Given the description of an element on the screen output the (x, y) to click on. 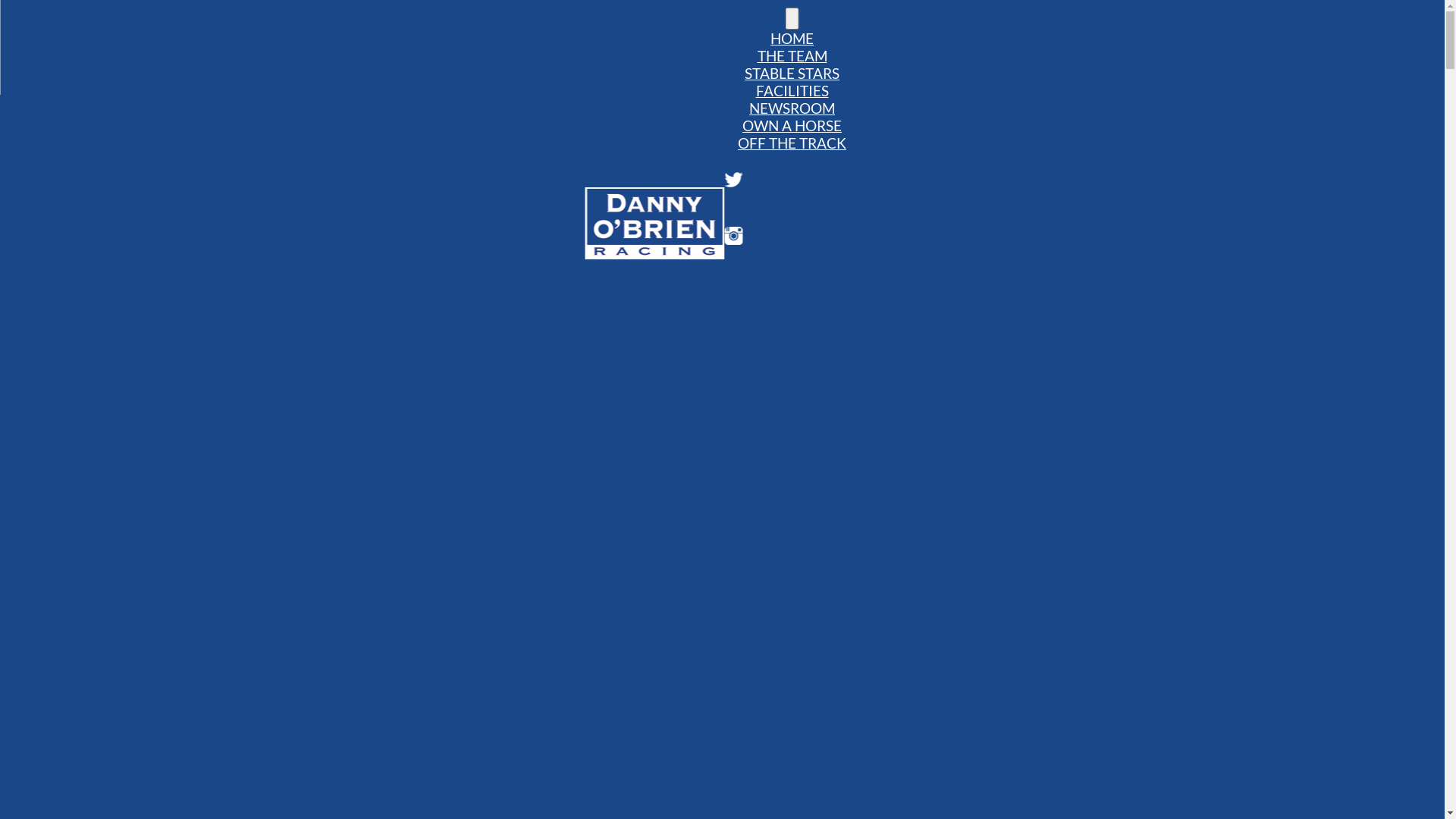
FACILITIES Element type: text (791, 90)
THE TEAM Element type: text (791, 55)
HOME Element type: text (791, 38)
OWN A HORSE Element type: text (791, 125)
STABLE STARS Element type: text (791, 72)
  Element type: text (792, 18)
OFF THE TRACK Element type: text (791, 142)
NEWSROOM Element type: text (791, 107)
